Given the description of an element on the screen output the (x, y) to click on. 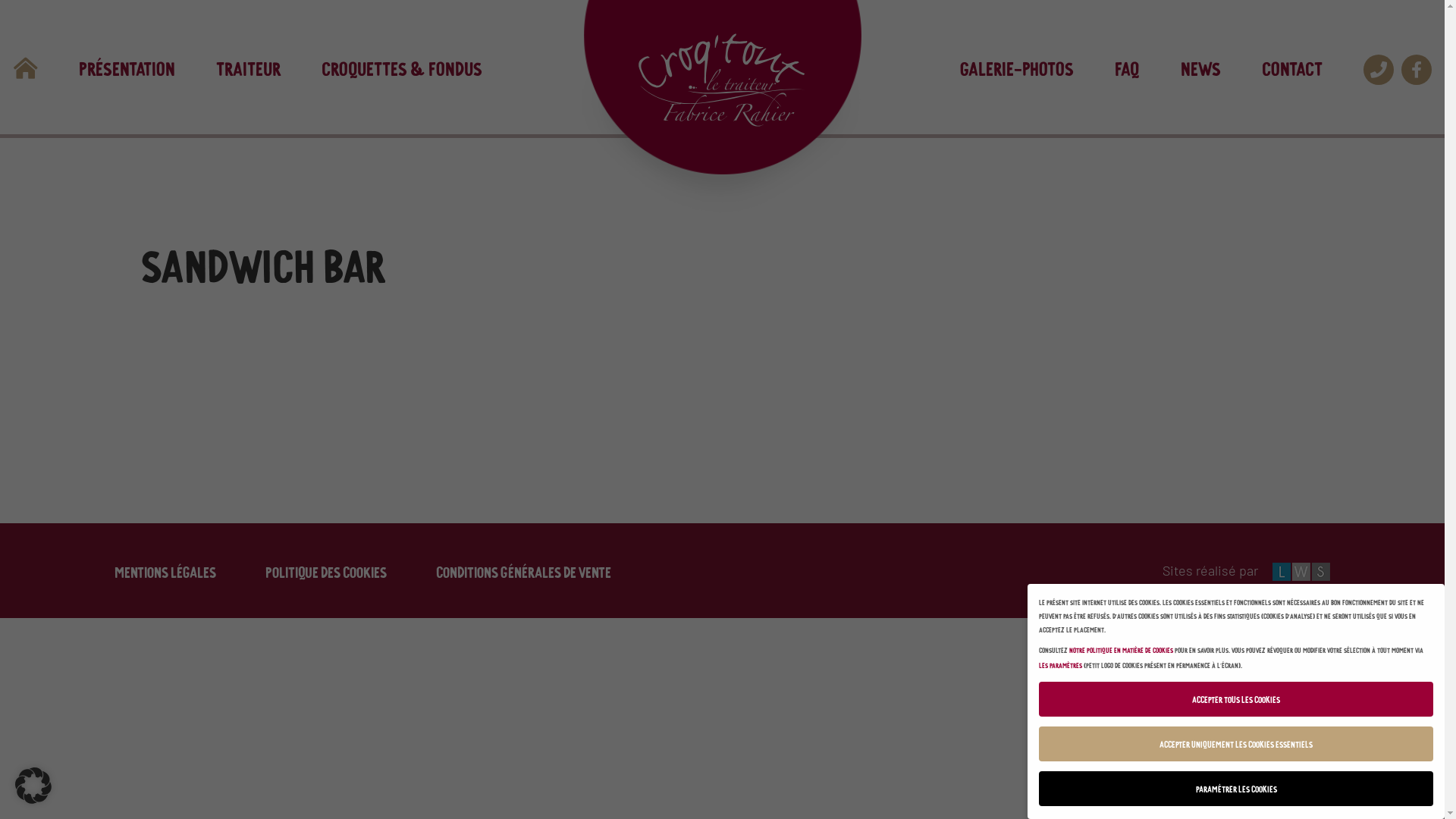
Traiteur Element type: text (247, 66)
Croquettes & Fondus Element type: text (401, 66)
Accepter tous les cookies Element type: text (1235, 698)
Contact Element type: text (1291, 66)
Open Cookie Preferences Element type: hover (33, 784)
Galerie-photos Element type: text (1016, 66)
Accepter uniquement les cookies essentiels Element type: text (1235, 743)
Politique des cookies Element type: text (325, 570)
News Element type: text (1199, 66)
Faq Element type: text (1126, 66)
